Given the description of an element on the screen output the (x, y) to click on. 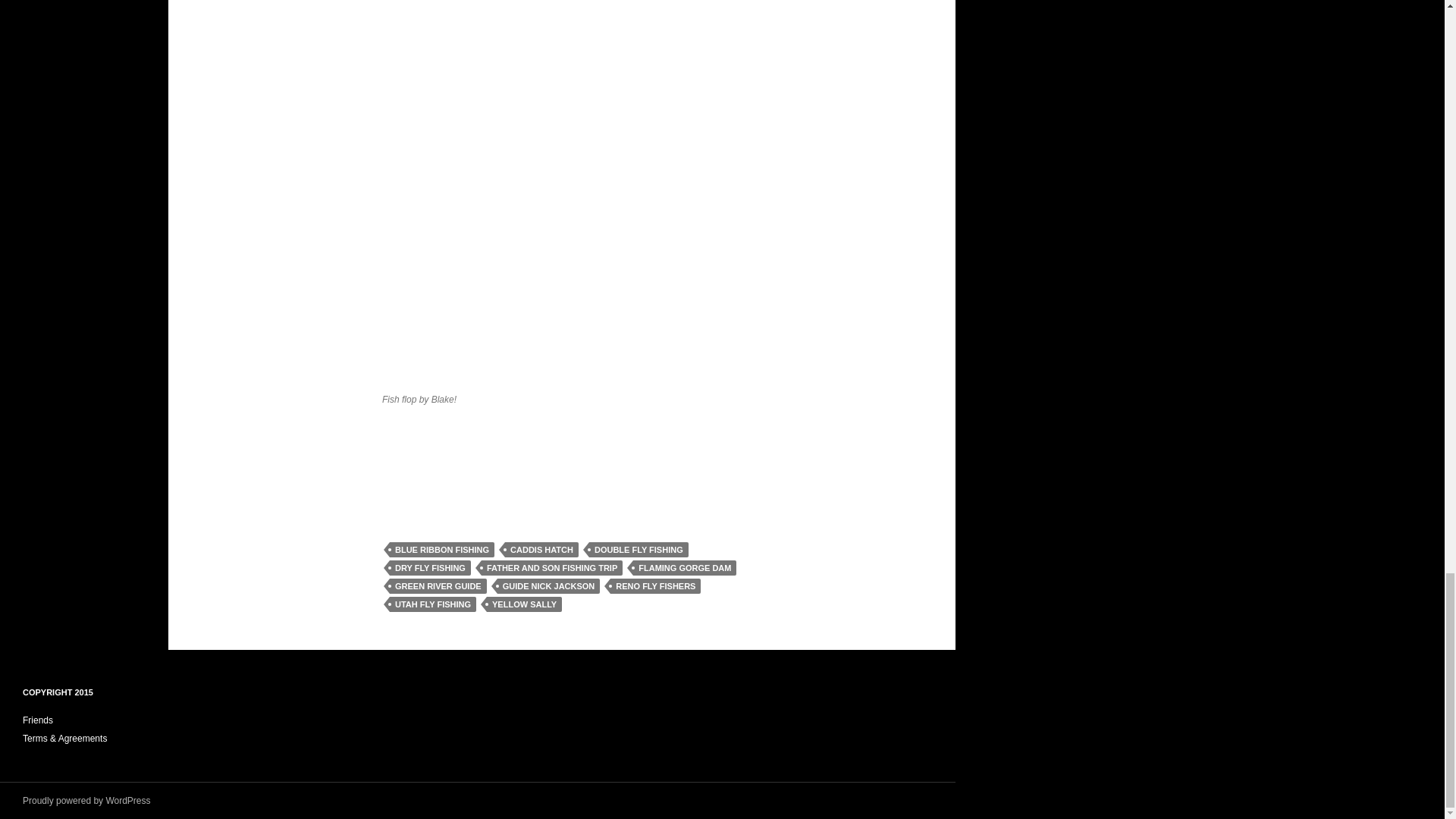
GUIDE NICK JACKSON (548, 585)
GREEN RIVER GUIDE (438, 585)
DOUBLE FLY FISHING (638, 549)
Friends (37, 719)
YELLOW SALLY (524, 604)
BLUE RIBBON FISHING (442, 549)
UTAH FLY FISHING (433, 604)
Proudly powered by WordPress (87, 800)
FATHER AND SON FISHING TRIP (552, 567)
CADDIS HATCH (541, 549)
